Given the description of an element on the screen output the (x, y) to click on. 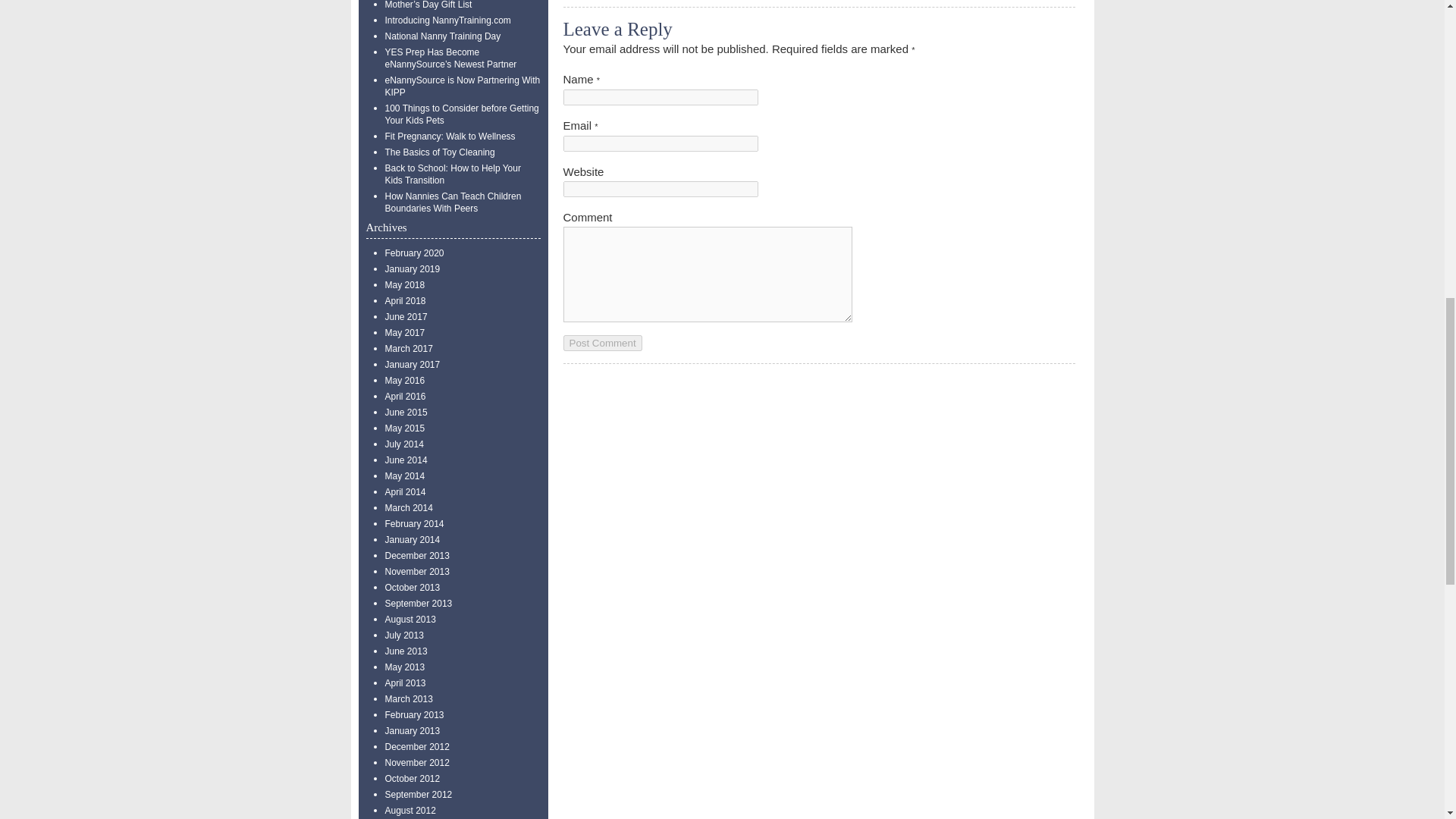
March 2017 (408, 348)
May 2018 (405, 285)
April 2018 (405, 300)
January 2019 (413, 268)
February 2020 (414, 253)
Back to School: How to Help Your Kids Transition (453, 173)
June 2017 (406, 317)
eNannySource is Now Partnering With KIPP (462, 86)
Post Comment (602, 342)
May 2017 (405, 332)
